Given the description of an element on the screen output the (x, y) to click on. 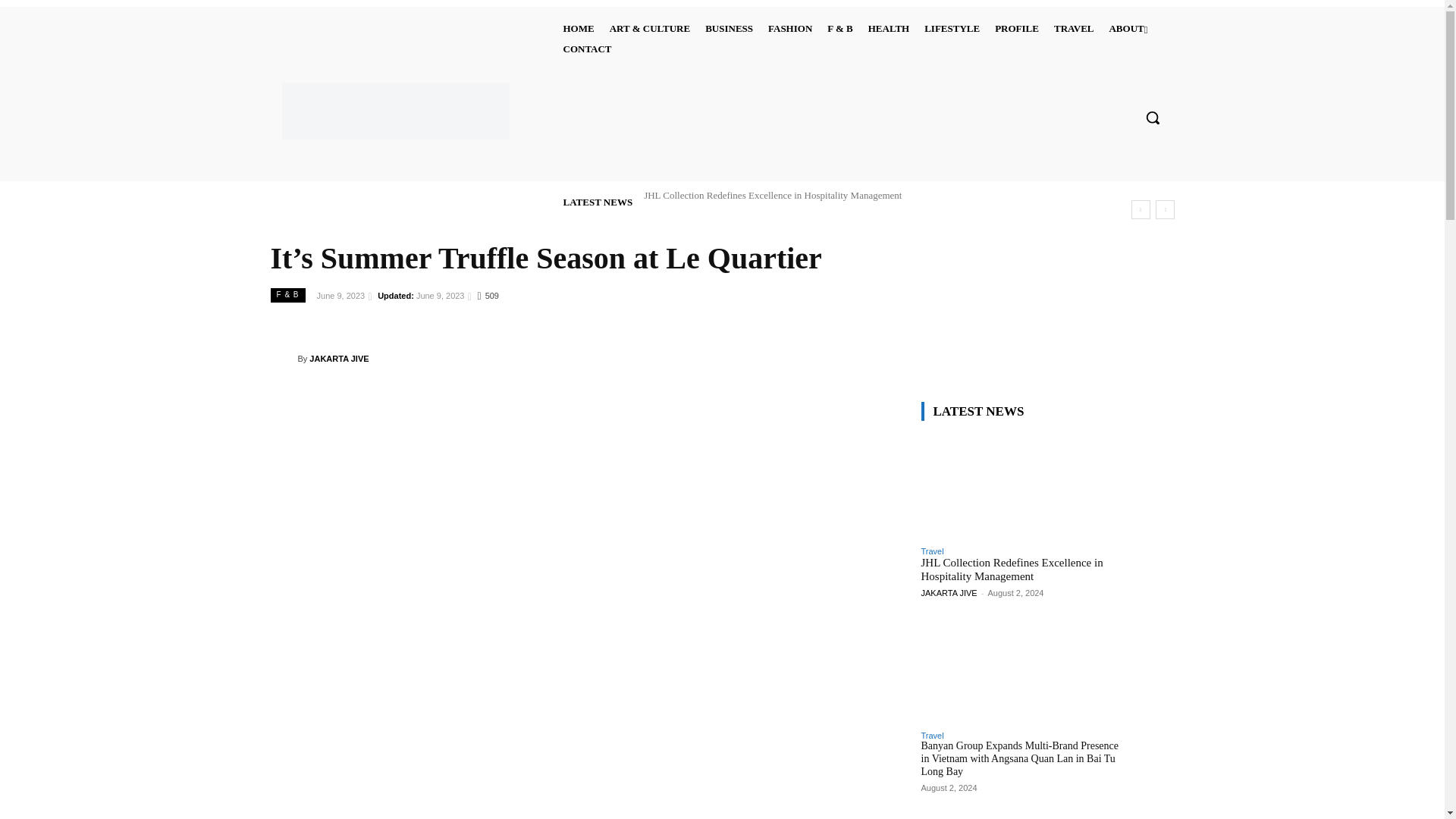
FASHION (789, 28)
LIFESTYLE (951, 28)
HOME (577, 28)
TRAVEL (1074, 28)
JAKARTA JIVE (283, 358)
ABOUT (1127, 28)
PROFILE (1016, 28)
BUSINESS (728, 28)
HEALTH (888, 28)
CONTACT (586, 48)
